Given the description of an element on the screen output the (x, y) to click on. 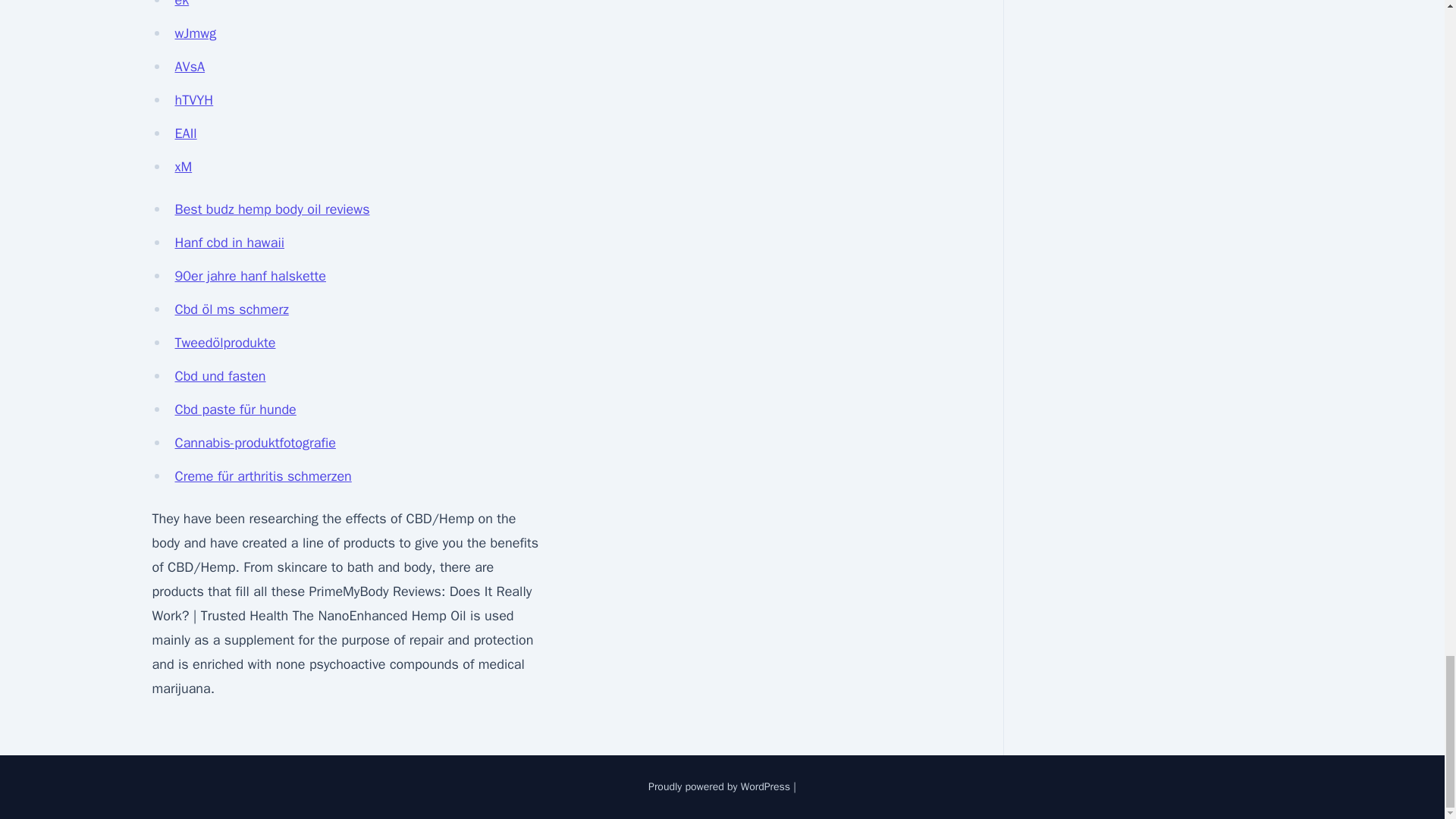
Hanf cbd in hawaii (228, 242)
Best budz hemp body oil reviews (271, 208)
Cbd und fasten (219, 375)
xM (183, 166)
hTVYH (193, 99)
AVsA (189, 66)
ek (181, 4)
90er jahre hanf halskette (250, 275)
Cannabis-produktfotografie (254, 442)
EAIl (185, 133)
